Given the description of an element on the screen output the (x, y) to click on. 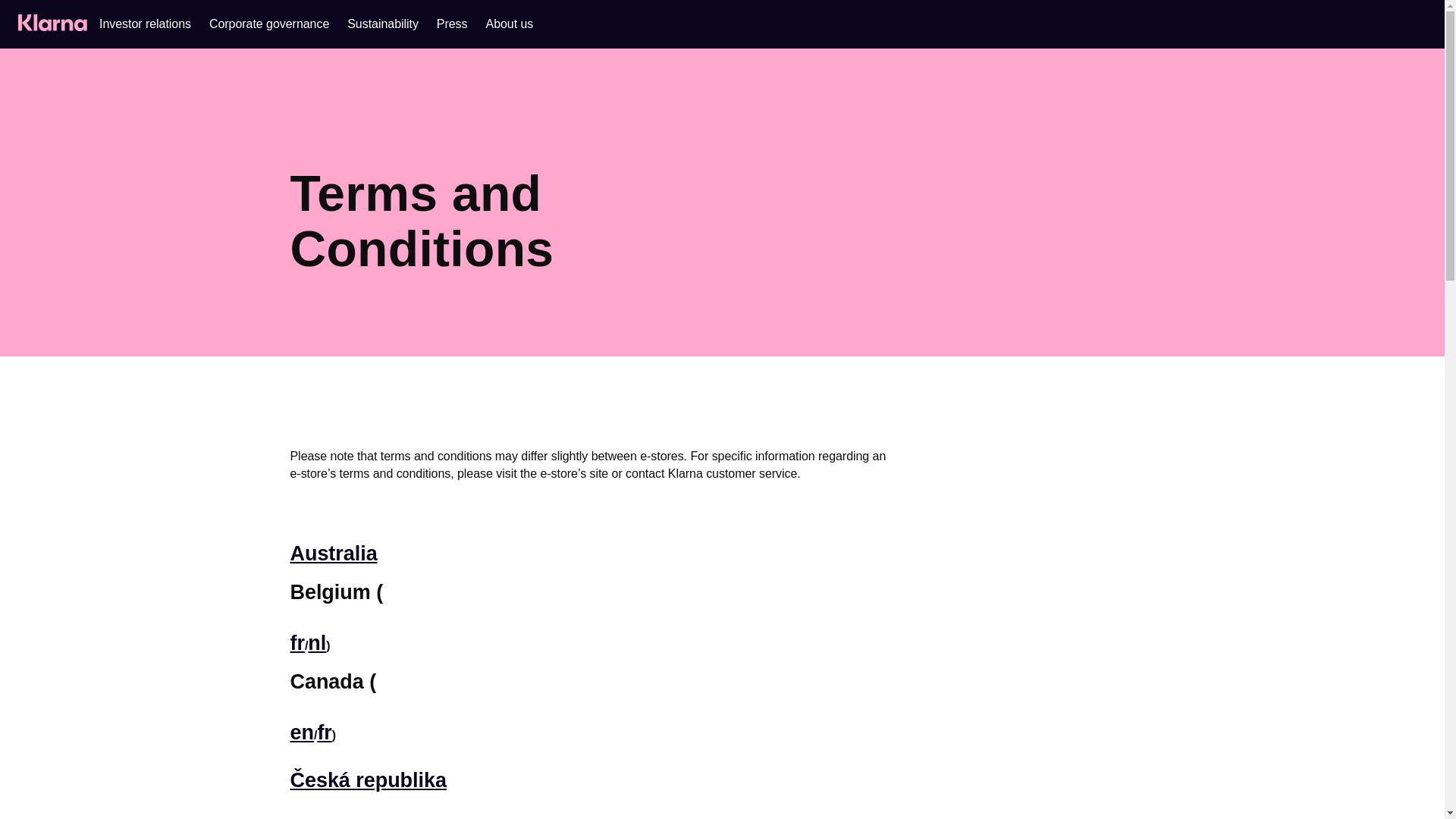
Press (452, 24)
Investor relations (144, 24)
Danmark (333, 817)
en (301, 732)
Australia (333, 553)
Sustainability (382, 24)
Corporate governance (268, 24)
About us (510, 24)
